Given the description of an element on the screen output the (x, y) to click on. 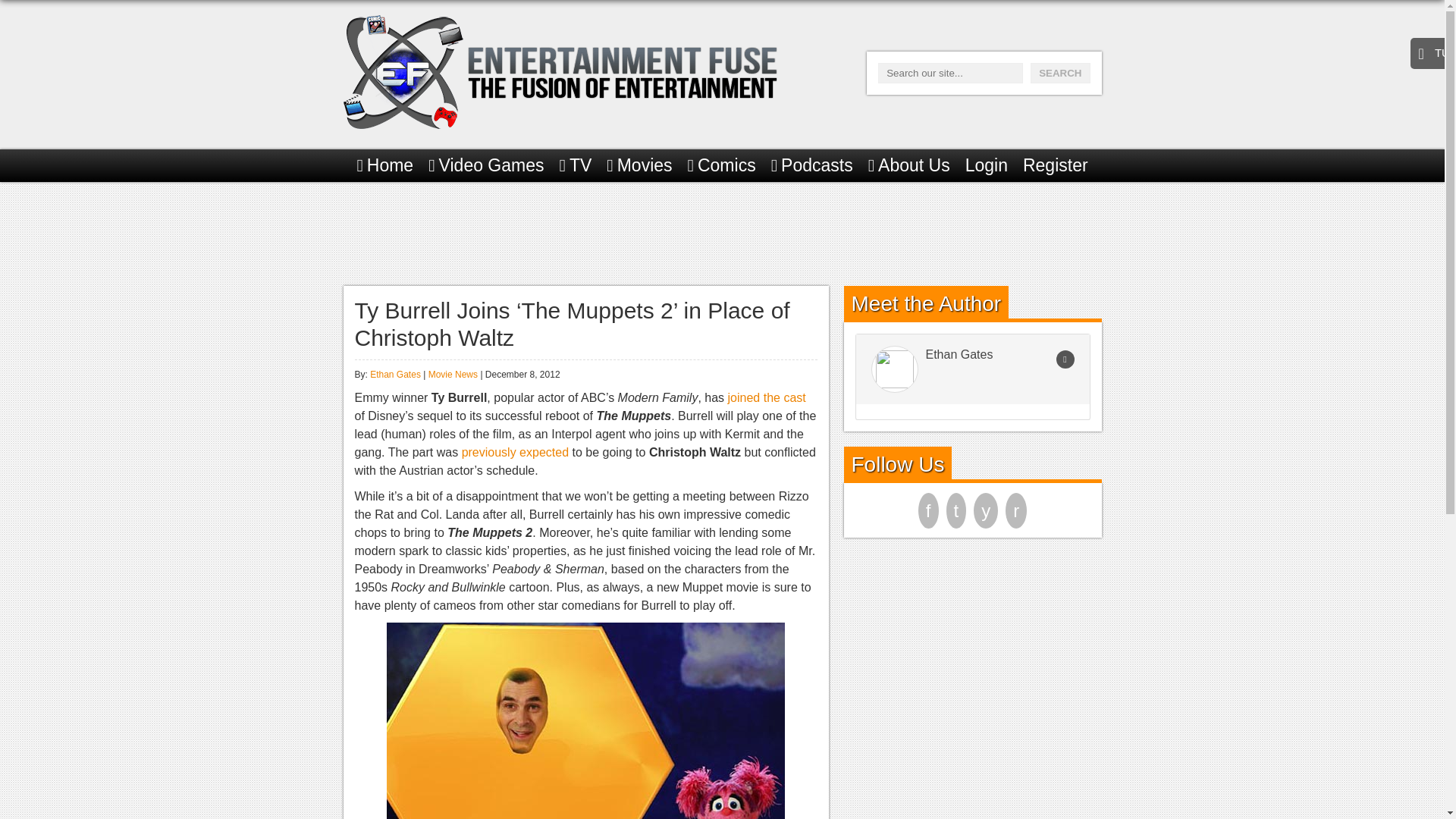
Video Games (485, 165)
Comics (721, 165)
Home (384, 165)
Send E-mail (1064, 359)
Movies (639, 165)
Search (1059, 73)
Search (1059, 73)
Posts by Ethan Gates (394, 374)
TV (575, 165)
